Given the description of an element on the screen output the (x, y) to click on. 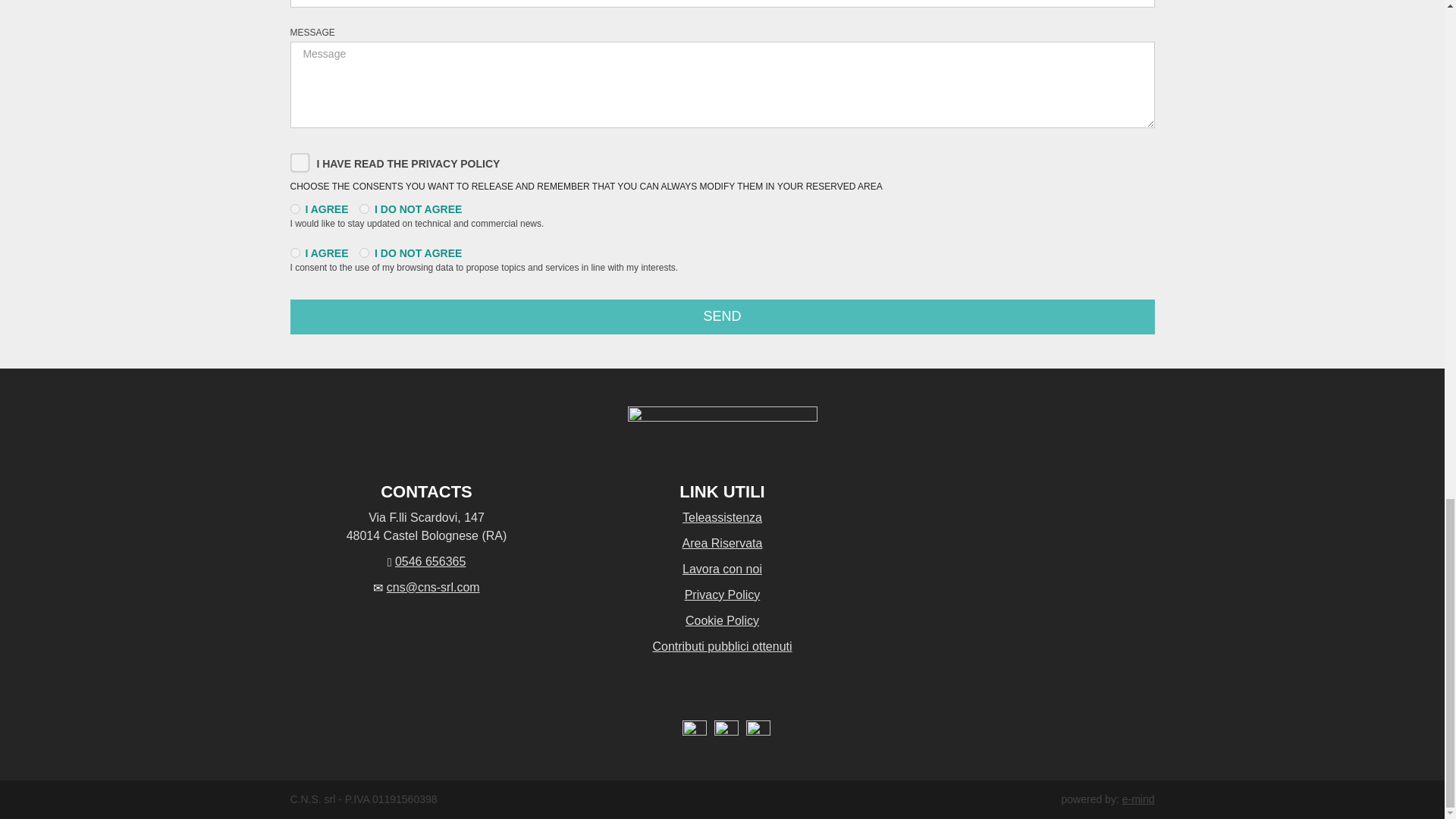
 Send (721, 316)
N (364, 252)
N (364, 208)
S (294, 208)
S (294, 252)
S (294, 157)
